Given the description of an element on the screen output the (x, y) to click on. 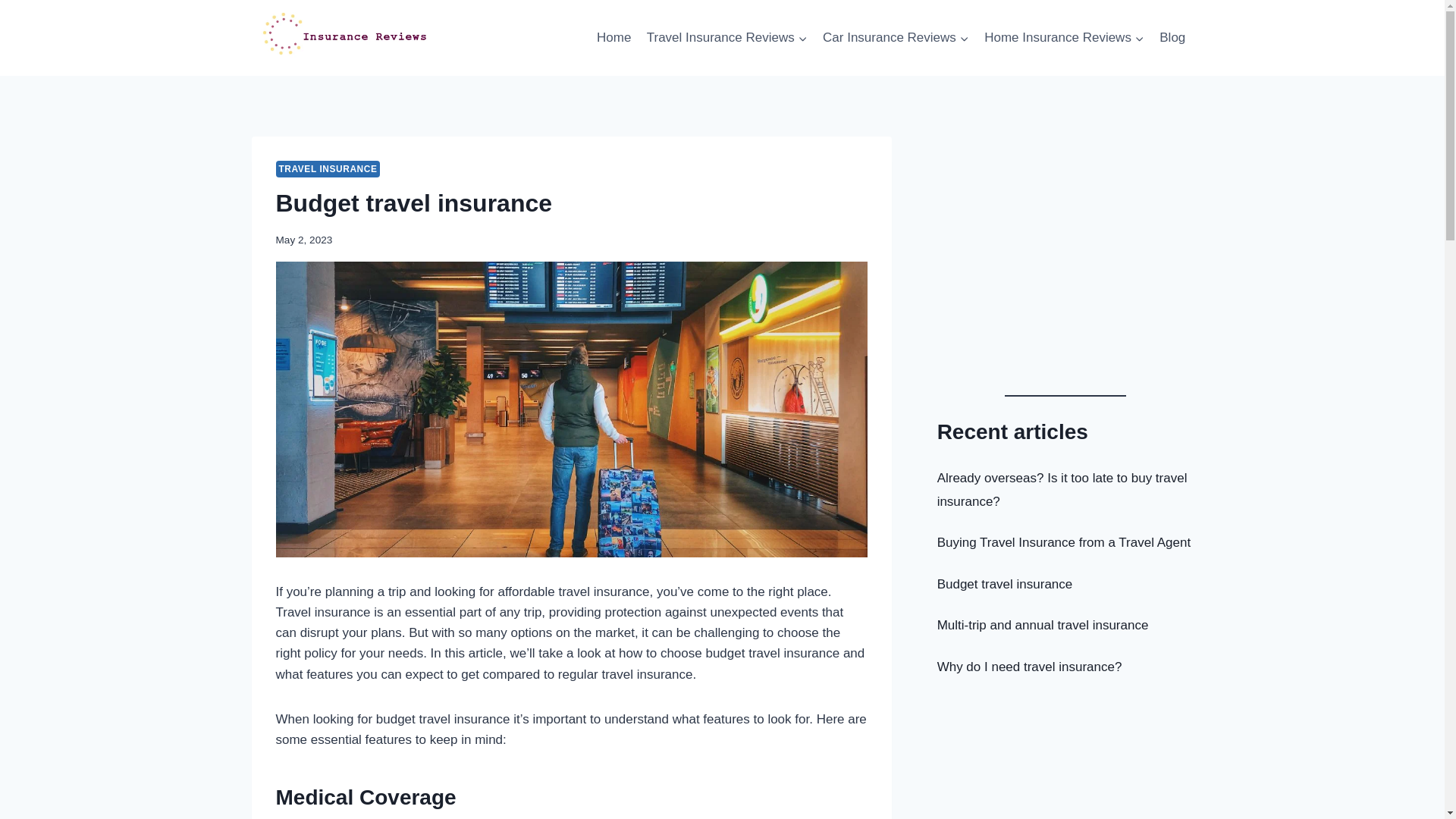
Already overseas? Is it too late to buy travel insurance? Element type: text (1062, 489)
Advertisement Element type: hover (1065, 269)
Buying Travel Insurance from a Travel Agent Element type: text (1064, 542)
TRAVEL INSURANCE Element type: text (328, 168)
Home Element type: text (614, 37)
Home Insurance Reviews Element type: text (1063, 37)
Blog Element type: text (1171, 37)
Car Insurance Reviews Element type: text (895, 37)
Multi-trip and annual travel insurance Element type: text (1042, 625)
Why do I need travel insurance? Element type: text (1029, 666)
Travel Insurance Reviews Element type: text (727, 37)
Budget travel insurance Element type: text (1005, 584)
